Given the description of an element on the screen output the (x, y) to click on. 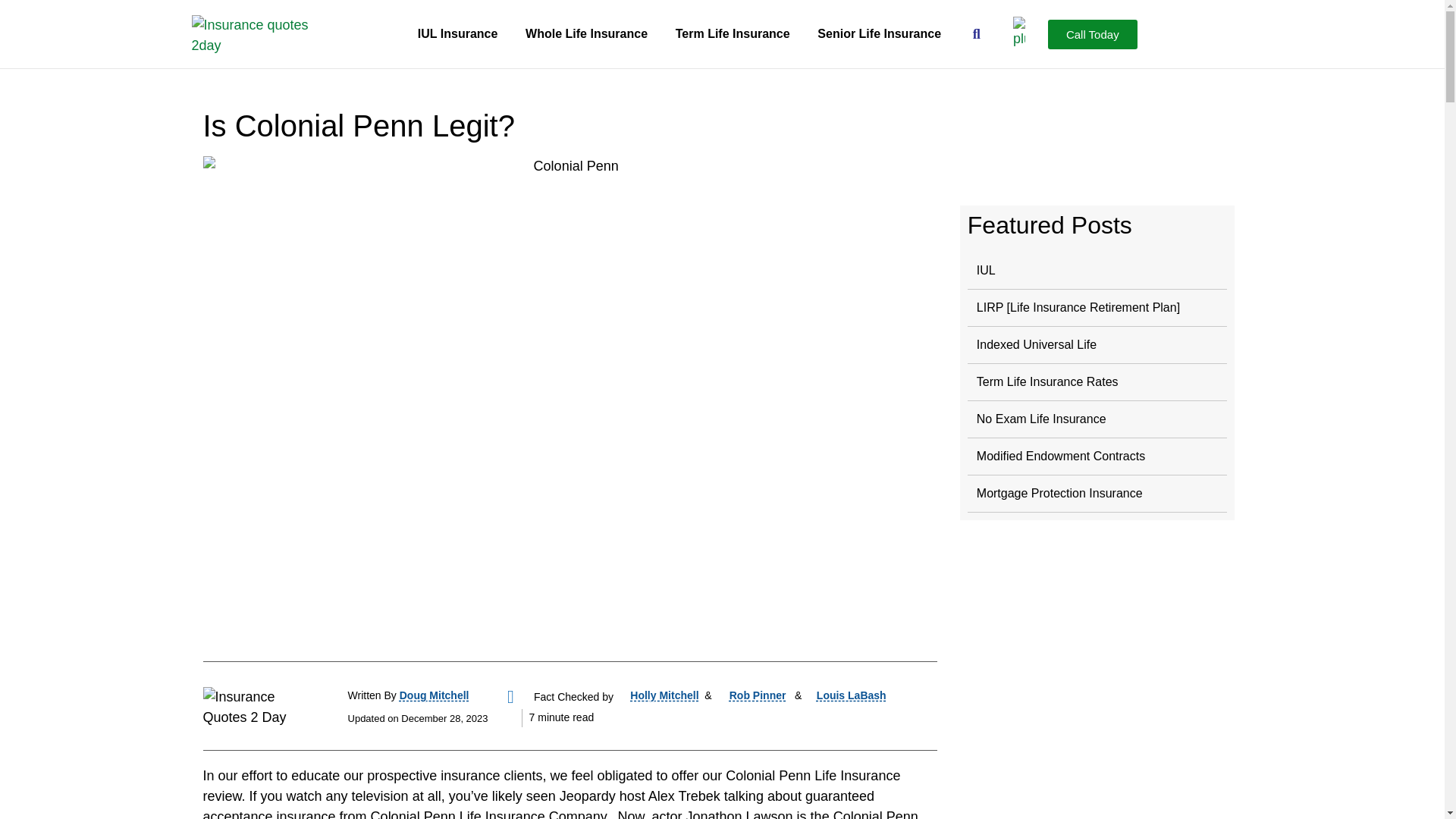
ColonialPennExterior - InsuranceQuotes2Day (570, 400)
logo - InsuranceQuotes2Day (250, 33)
Senior Life Insurance (879, 33)
IUL Insurance (457, 33)
Whole Life Insurance (587, 33)
Call Today (1092, 34)
Insurance Quotes 2 Day Team - InsuranceQuotes2Day (261, 705)
Term Life Insurance (732, 33)
